Given the description of an element on the screen output the (x, y) to click on. 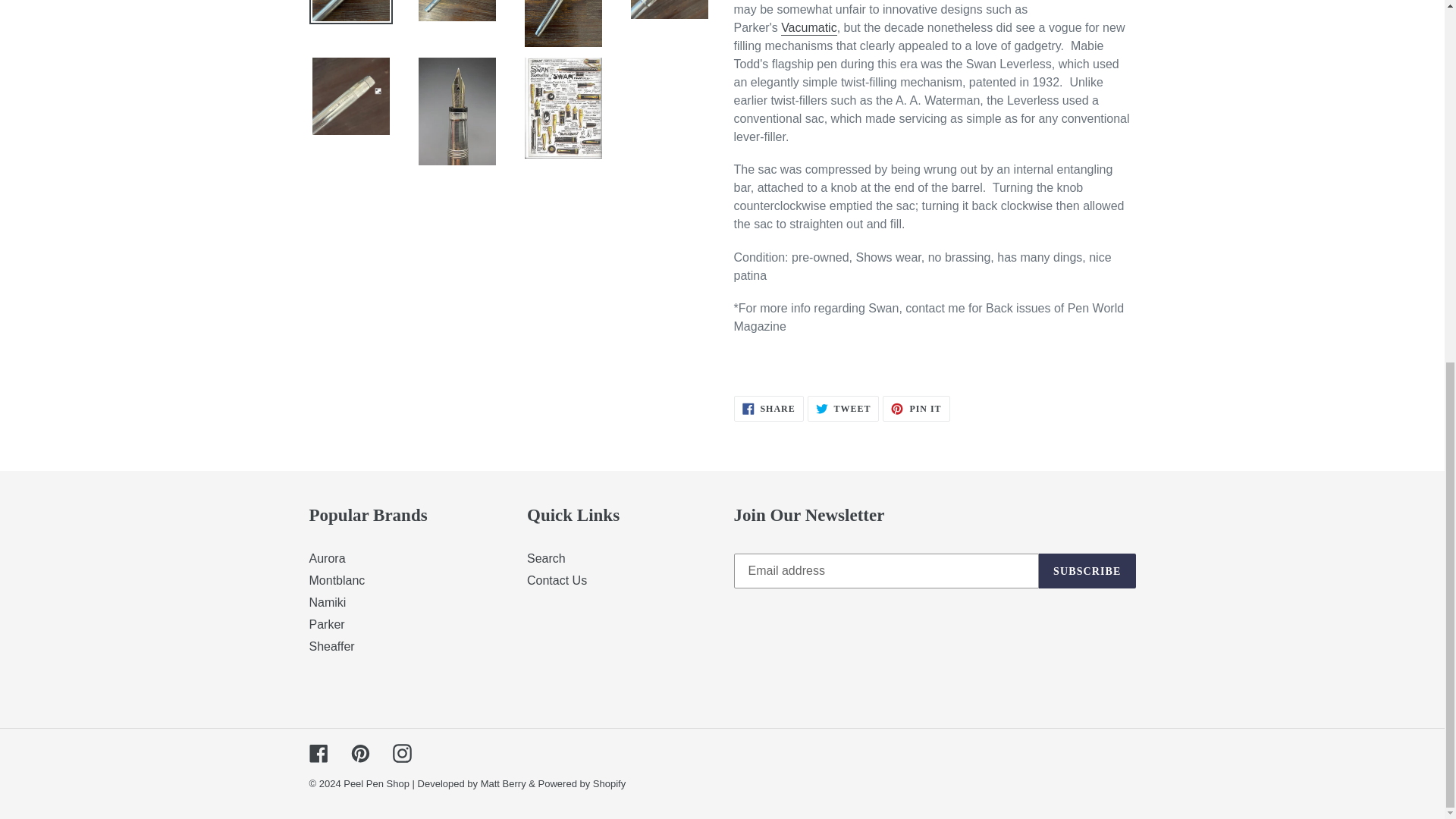
Sheaffer (843, 407)
Aurora (915, 407)
Vacumatic (768, 407)
Contact Us (331, 645)
Search (327, 558)
Parker (808, 28)
Namiki (556, 580)
Montblanc (546, 558)
